Given the description of an element on the screen output the (x, y) to click on. 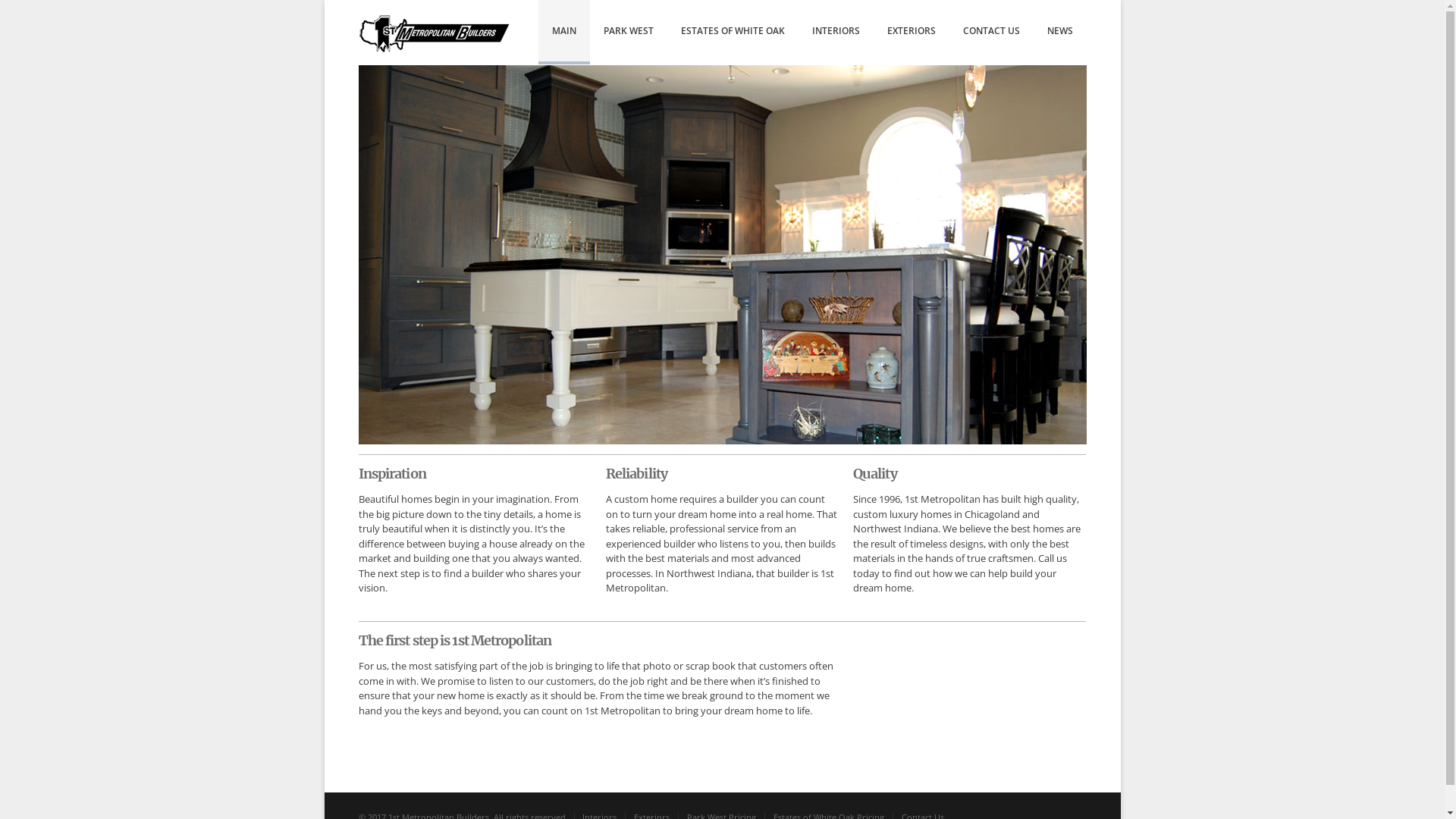
MAIN Element type: text (563, 32)
ESTATES OF WHITE OAK Element type: text (732, 32)
NEWS Element type: text (1059, 32)
PARK WEST Element type: text (628, 32)
CONTACT US Element type: text (991, 32)
INTERIORS Element type: text (835, 32)
EXTERIORS Element type: text (911, 32)
